Given the description of an element on the screen output the (x, y) to click on. 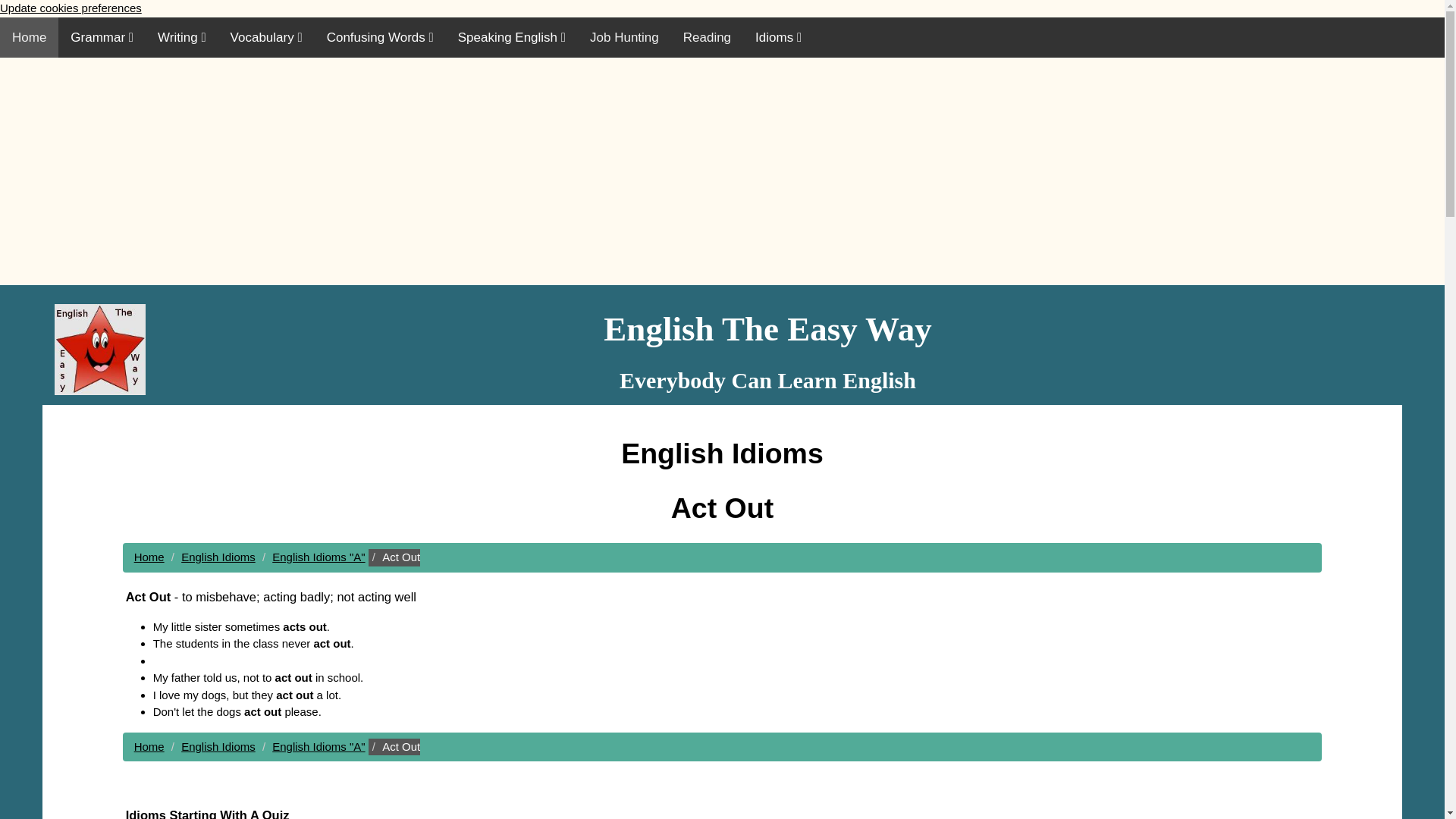
Confusing Words (379, 36)
Grammar (101, 36)
Update cookies preferences (70, 7)
Vocabulary (266, 36)
Home (29, 36)
Writing (181, 36)
